Given the description of an element on the screen output the (x, y) to click on. 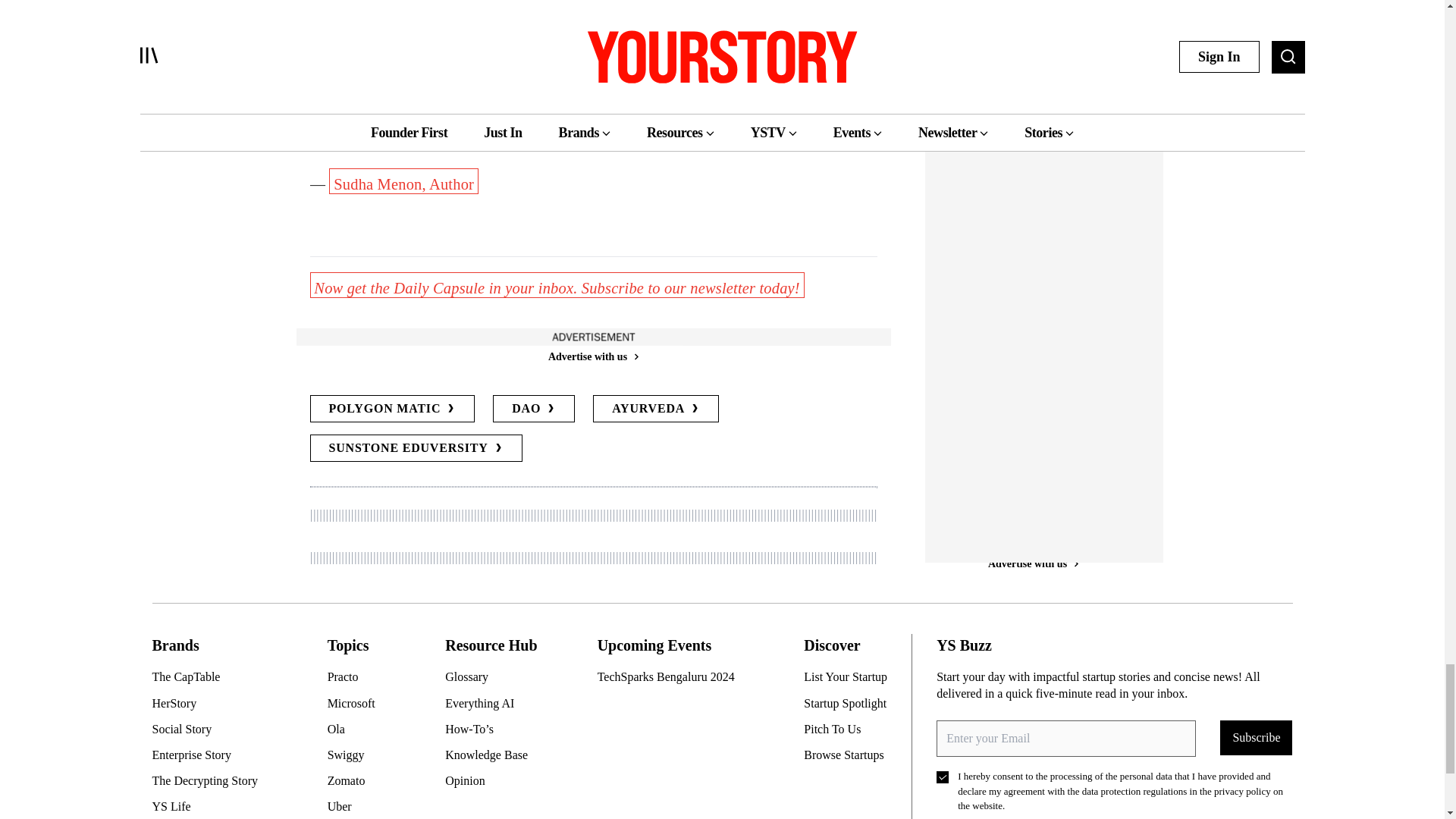
AYURVEDA (655, 408)
SUNSTONE EDUVERSITY (414, 447)
DAO (534, 408)
POLYGON MATIC (391, 408)
Advertise with us (592, 356)
Sudha Menon, Author (403, 181)
